Given the description of an element on the screen output the (x, y) to click on. 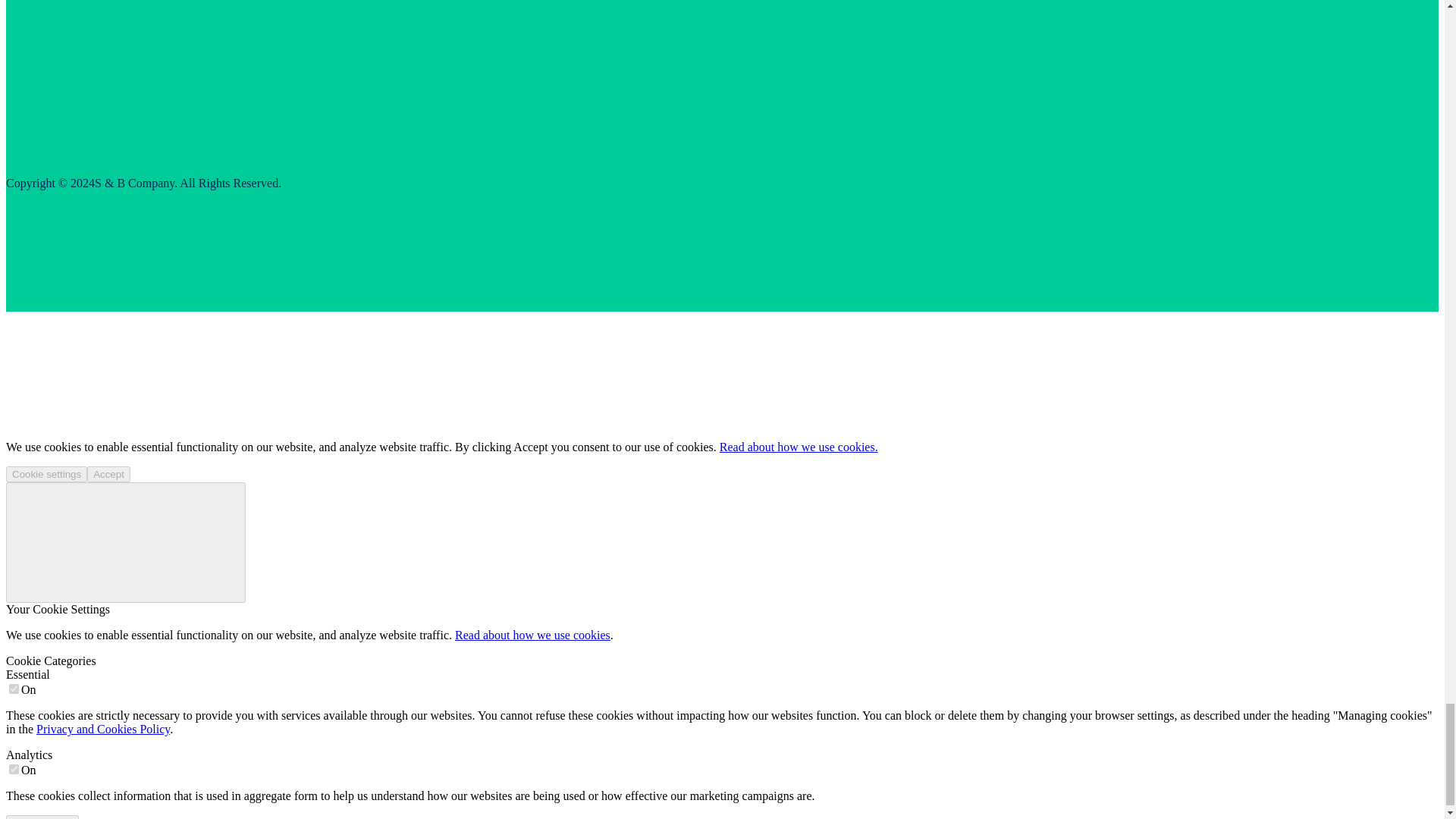
Read about how we use cookies. (798, 446)
Accept (109, 474)
Read about how we use cookies (532, 634)
Cookie settings (46, 474)
on (13, 768)
on (13, 688)
Privacy and Cookies Policy (103, 728)
